Given the description of an element on the screen output the (x, y) to click on. 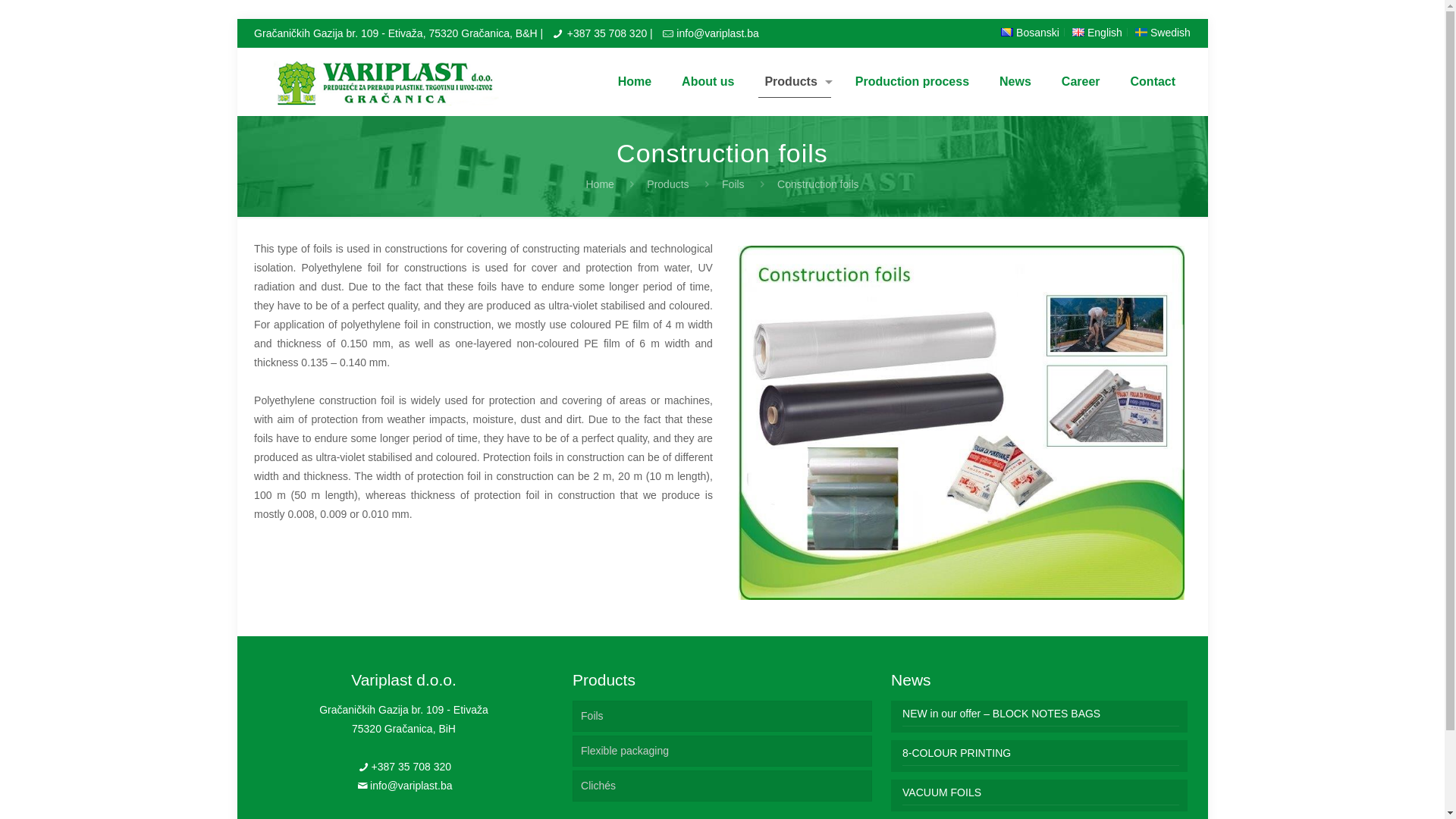
Foils Element type: text (722, 715)
English Element type: hover (1078, 32)
English Element type: text (1097, 32)
Career Element type: text (1080, 81)
Variplast Ltd. Element type: hover (383, 81)
Flexible packaging Element type: text (722, 750)
Bosanski Element type: text (1030, 32)
Home Element type: text (599, 184)
Contact Element type: text (1153, 81)
info@variplast.ba Element type: text (717, 33)
Bosanski Element type: hover (1007, 32)
Products Element type: text (794, 81)
+387 35 708 320 | Element type: text (609, 33)
News Element type: text (1015, 81)
Swedish Element type: text (1162, 32)
About us Element type: text (707, 81)
info@variplast.ba Element type: text (410, 785)
Foils Element type: text (732, 184)
Home Element type: text (634, 81)
8-COLOUR PRINTING Element type: text (1040, 754)
Production process Element type: text (912, 81)
VACUUM FOILS Element type: text (1040, 794)
Products Element type: text (667, 184)
